Given the description of an element on the screen output the (x, y) to click on. 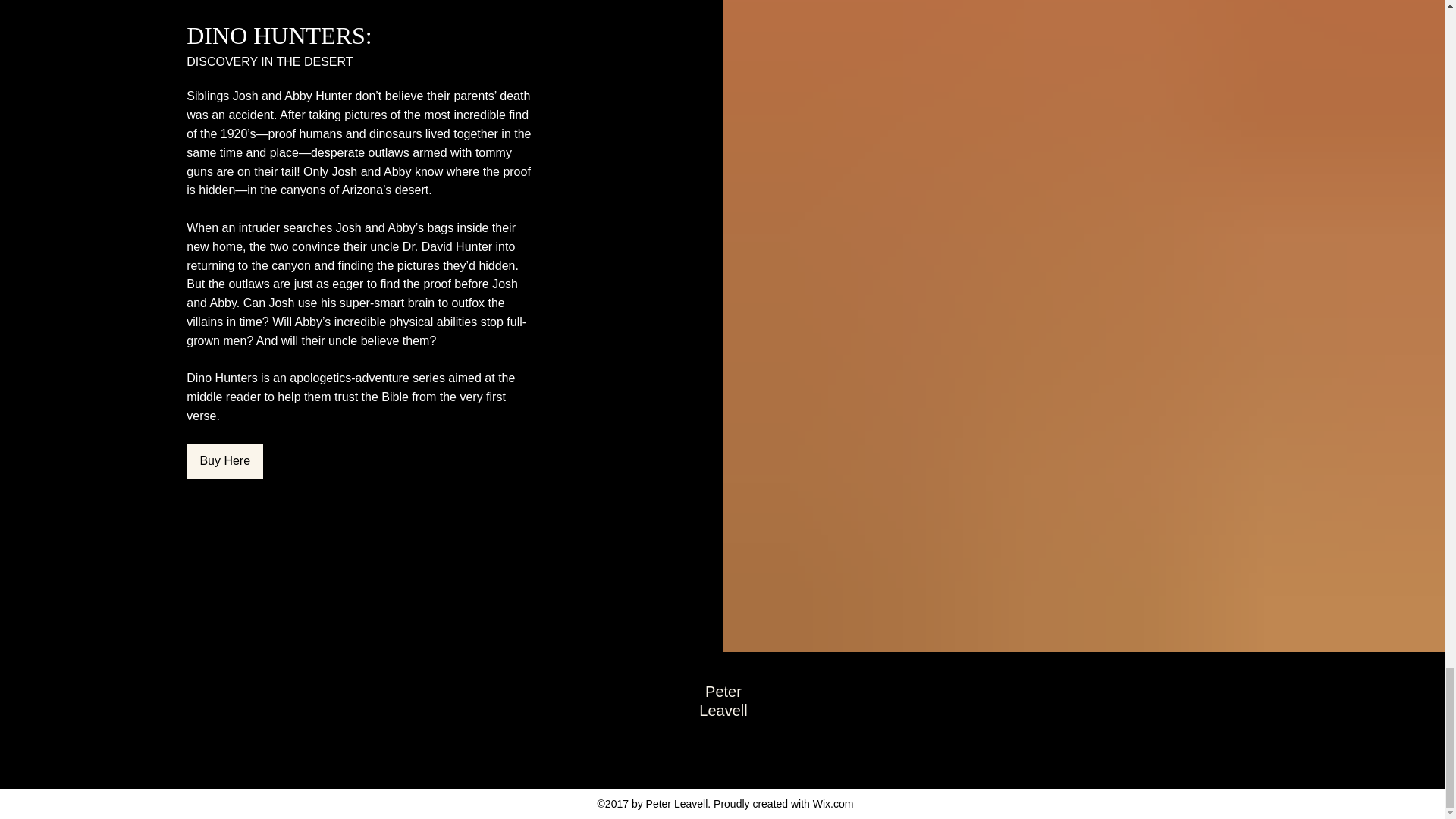
Buy Here (224, 461)
